Given the description of an element on the screen output the (x, y) to click on. 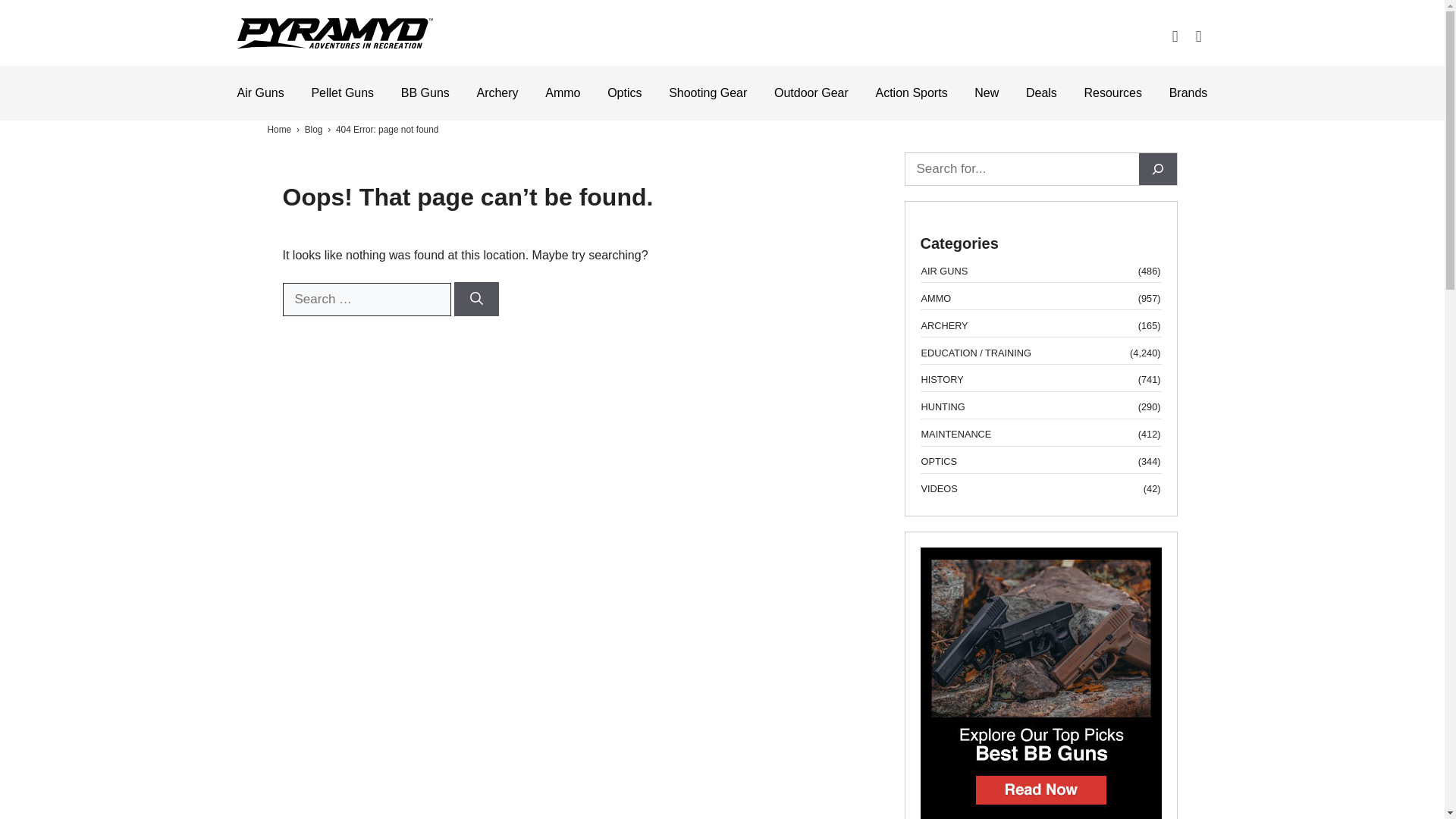
Pellet Guns (342, 92)
AMMO (935, 298)
BB Guns (425, 92)
Air Guns (259, 92)
Resources (1112, 92)
MAINTENANCE (955, 434)
Home (278, 129)
Archery (497, 92)
New (986, 92)
Search for: (365, 299)
Blog (313, 129)
Optics (624, 92)
HUNTING (941, 407)
OPTICS (938, 461)
ARCHERY (944, 326)
